Given the description of an element on the screen output the (x, y) to click on. 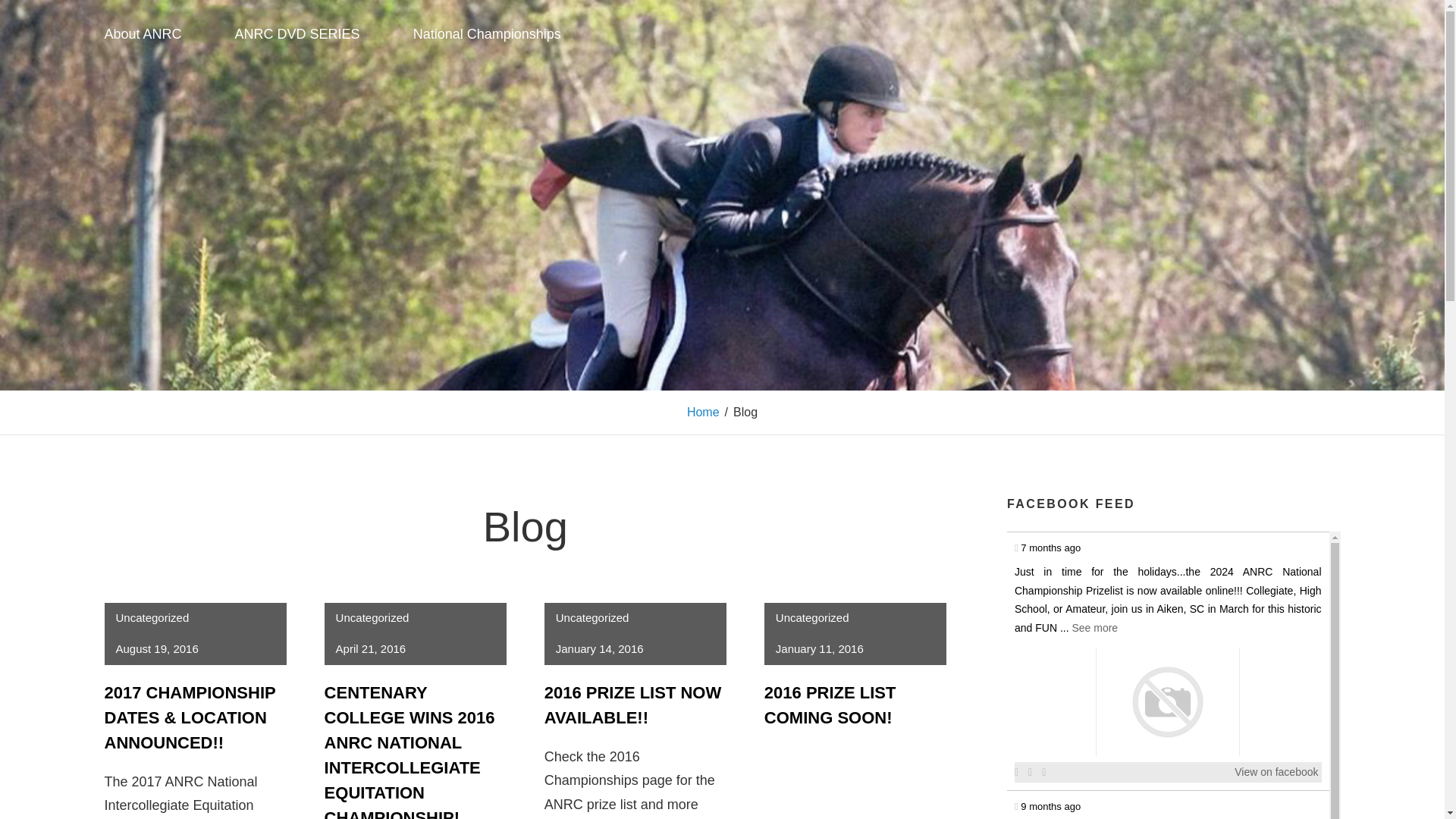
2016 PRIZE LIST NOW AVAILABLE!! (633, 705)
January 14, 2016 (599, 648)
National Championships (496, 33)
August 19, 2016 (156, 648)
View on facebook (1275, 771)
SEARCH (1326, 33)
Uncategorized (152, 617)
ANRC DVD SERIES (306, 33)
About ANRC (151, 33)
April 21, 2016 (371, 648)
2016 PRIZE LIST COMING SOON! (830, 705)
Uncategorized (372, 617)
Uncategorized (812, 617)
January 11, 2016 (819, 648)
